Given the description of an element on the screen output the (x, y) to click on. 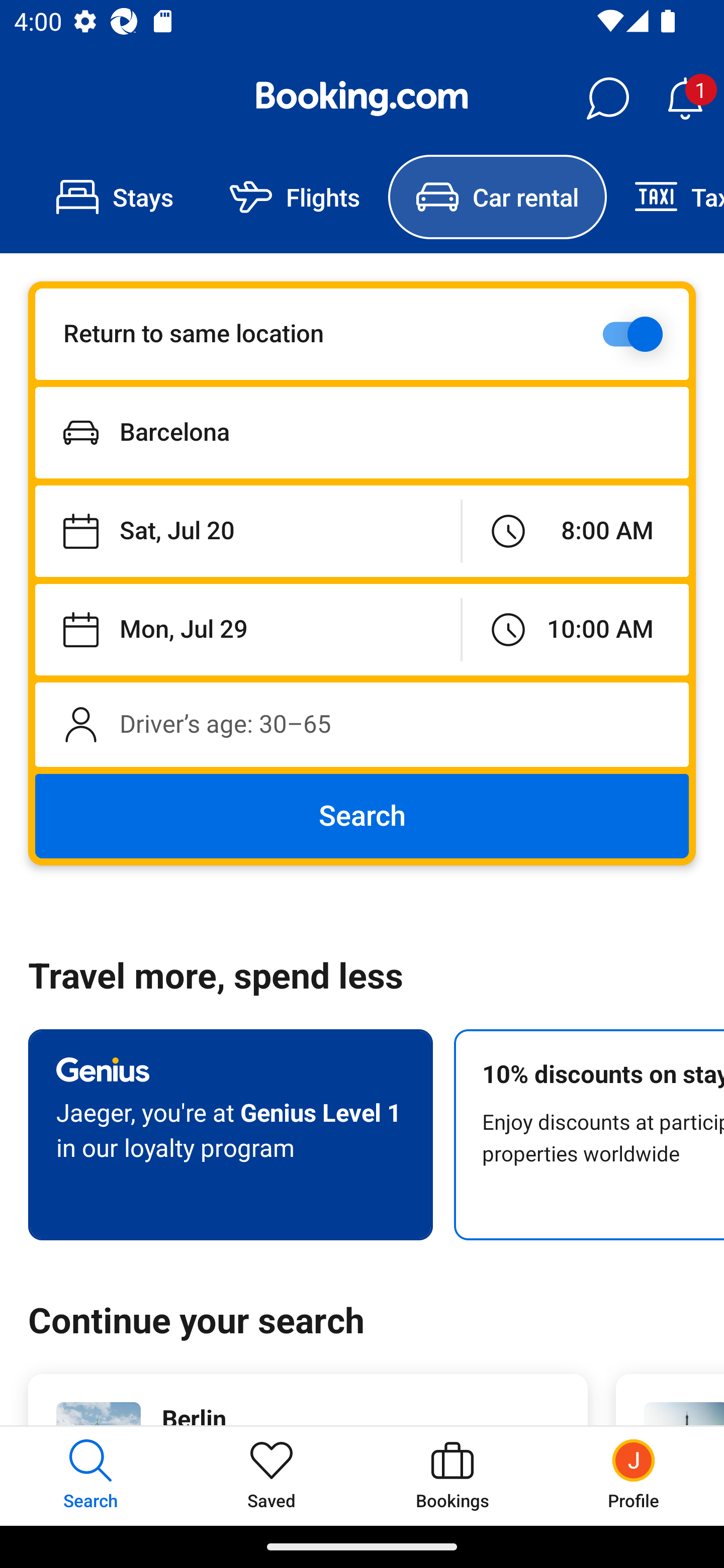
Messages (607, 98)
Notifications (685, 98)
Stays (114, 197)
Flights (294, 197)
Car rental (497, 197)
Taxi (665, 197)
Pick-up location: Text(name=Barcelona) (361, 432)
Pick-up date: 2024-07-20 (247, 531)
Pick-up time: 08:00:00.000 (575, 531)
Drop-off date: 2024-07-29 (247, 629)
Drop-off time: 10:00:00.000 (575, 629)
Enter the driver's age (361, 724)
Search (361, 815)
Saved (271, 1475)
Bookings (452, 1475)
Profile (633, 1475)
